Given the description of an element on the screen output the (x, y) to click on. 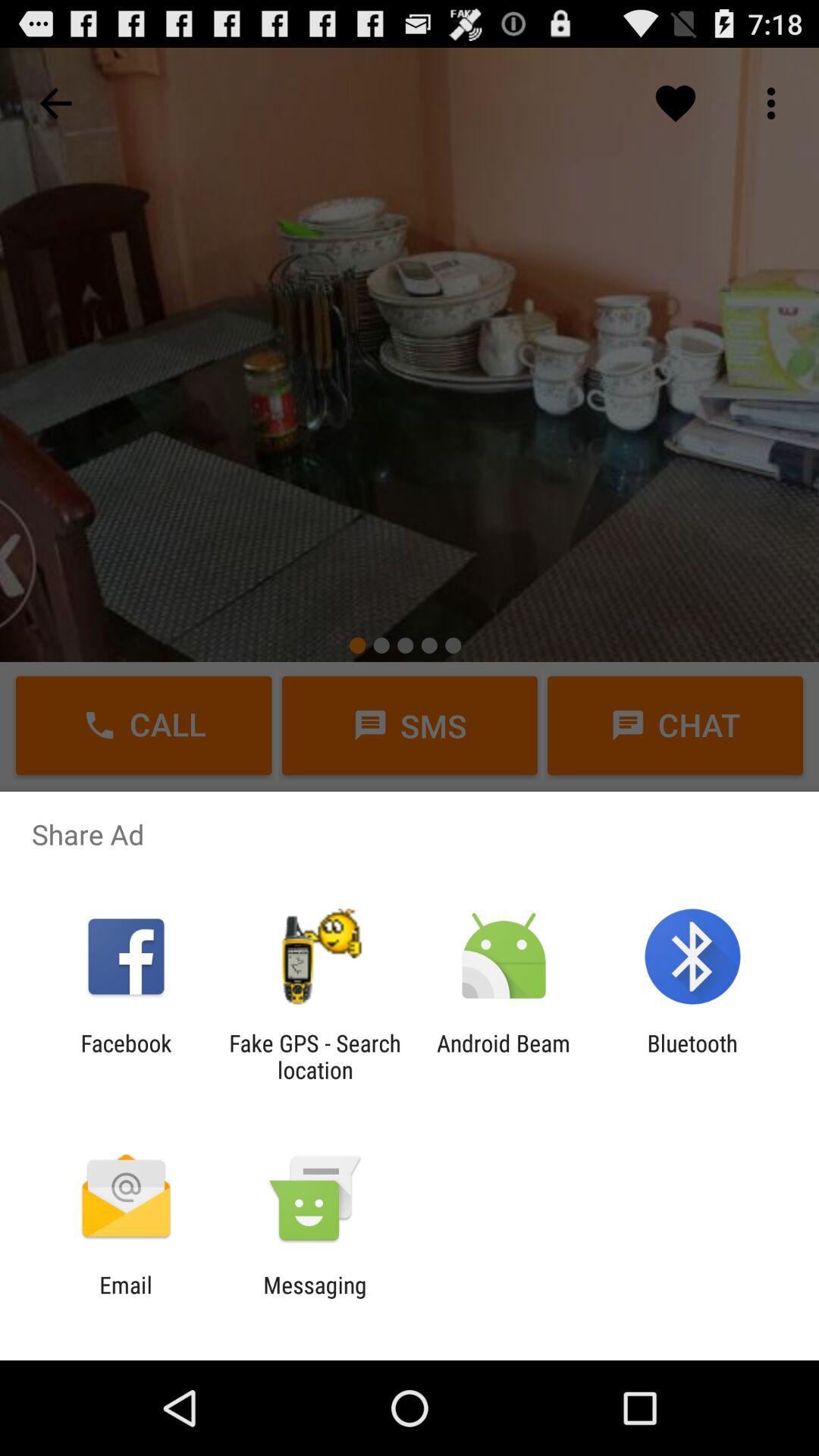
open the bluetooth app (692, 1056)
